Given the description of an element on the screen output the (x, y) to click on. 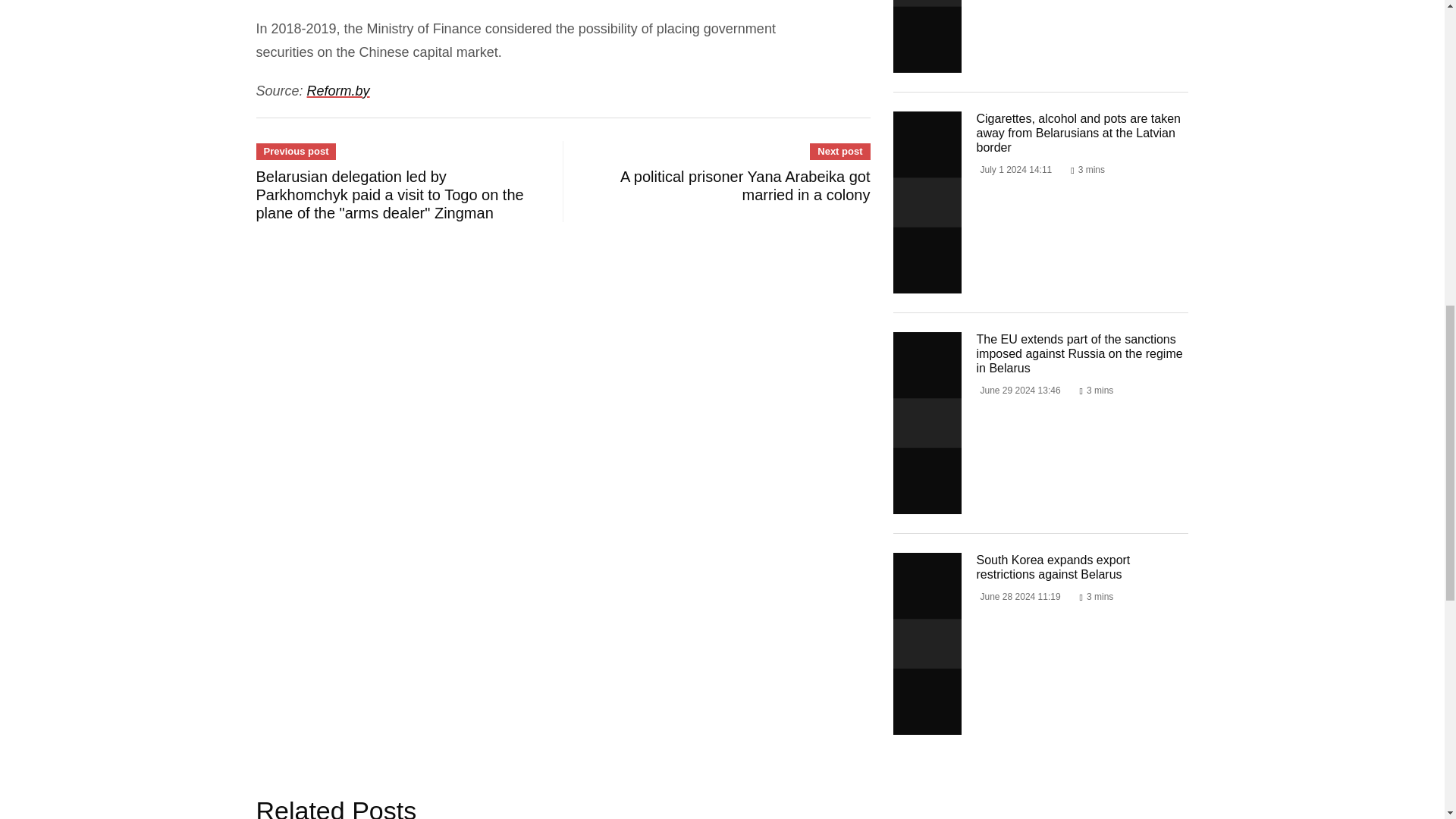
South Korea expands export restrictions against Belarus (926, 643)
